Given the description of an element on the screen output the (x, y) to click on. 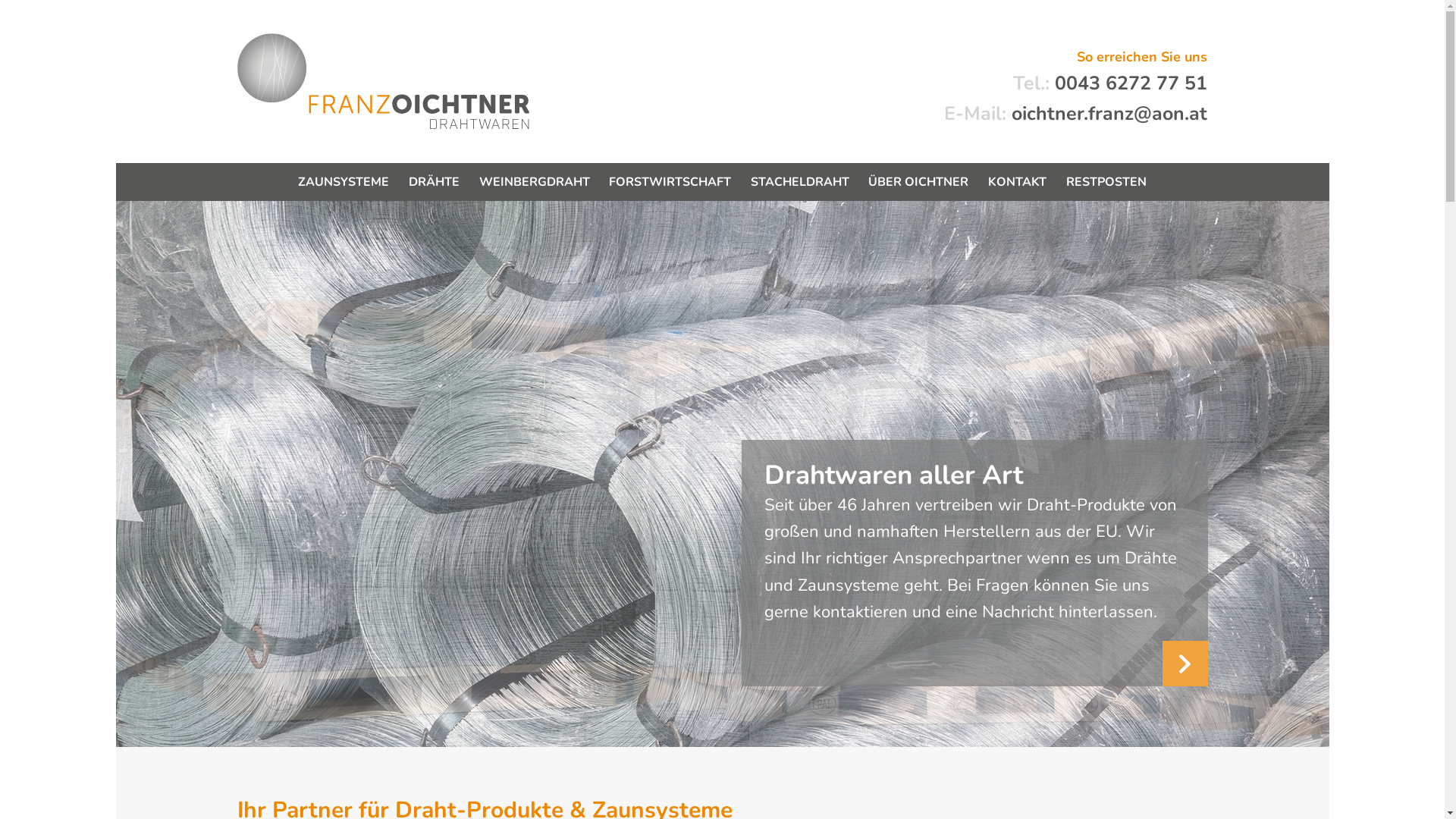
oichtner.franz@aon.at Element type: text (1109, 113)
WEINBERGDRAHT Element type: text (534, 181)
KONTAKT Element type: text (1017, 181)
Franz Oichtner - Drahtwaren Element type: hover (427, 71)
RESTPOSTEN Element type: text (1106, 181)
FORSTWIRTSCHAFT Element type: text (669, 181)
ZAUNSYSTEME Element type: text (343, 181)
STACHELDRAHT Element type: text (799, 181)
0043 6272 77 51 Element type: text (1130, 83)
